Given the description of an element on the screen output the (x, y) to click on. 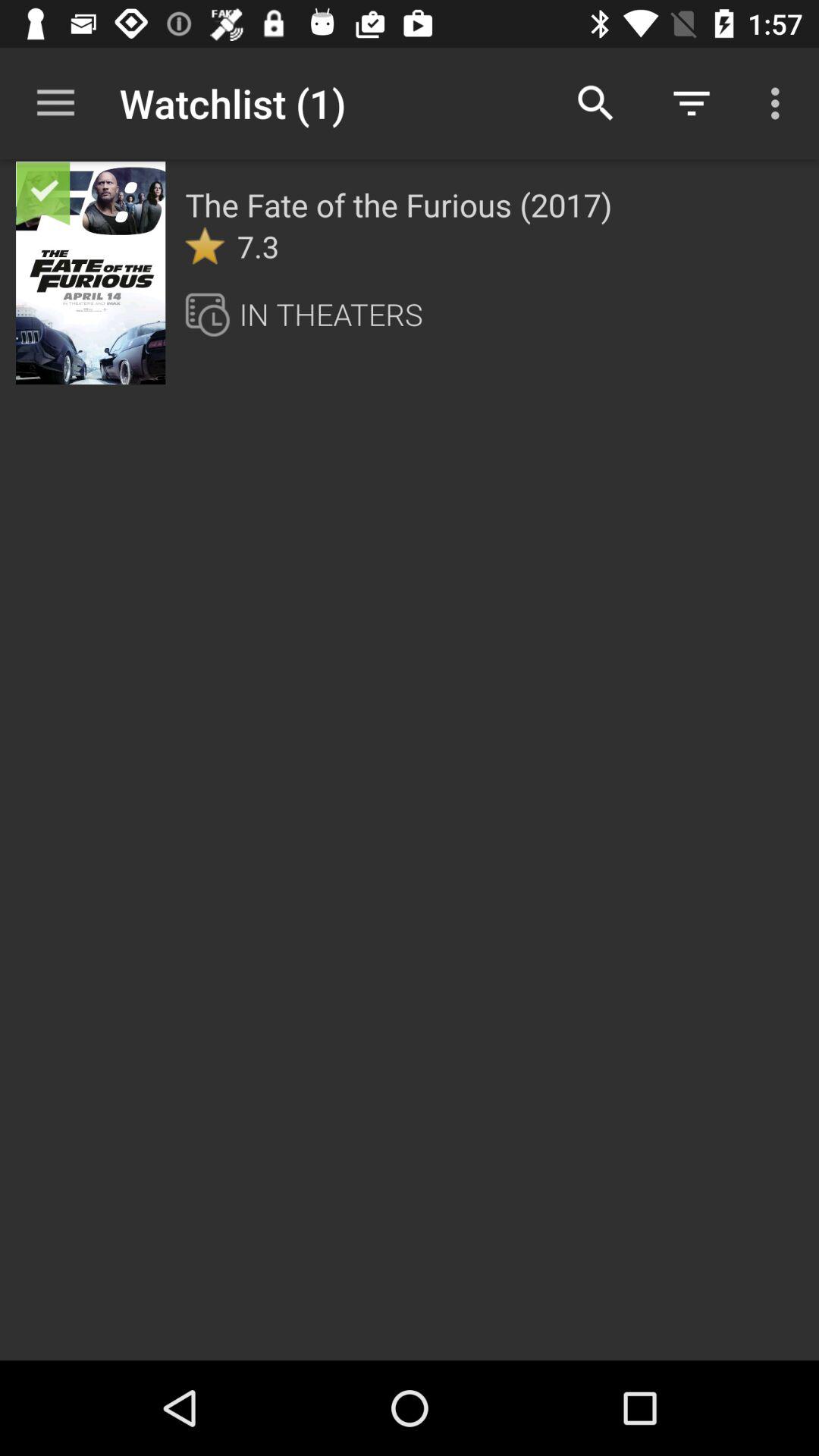
open item next to watchlist (1) icon (55, 103)
